Given the description of an element on the screen output the (x, y) to click on. 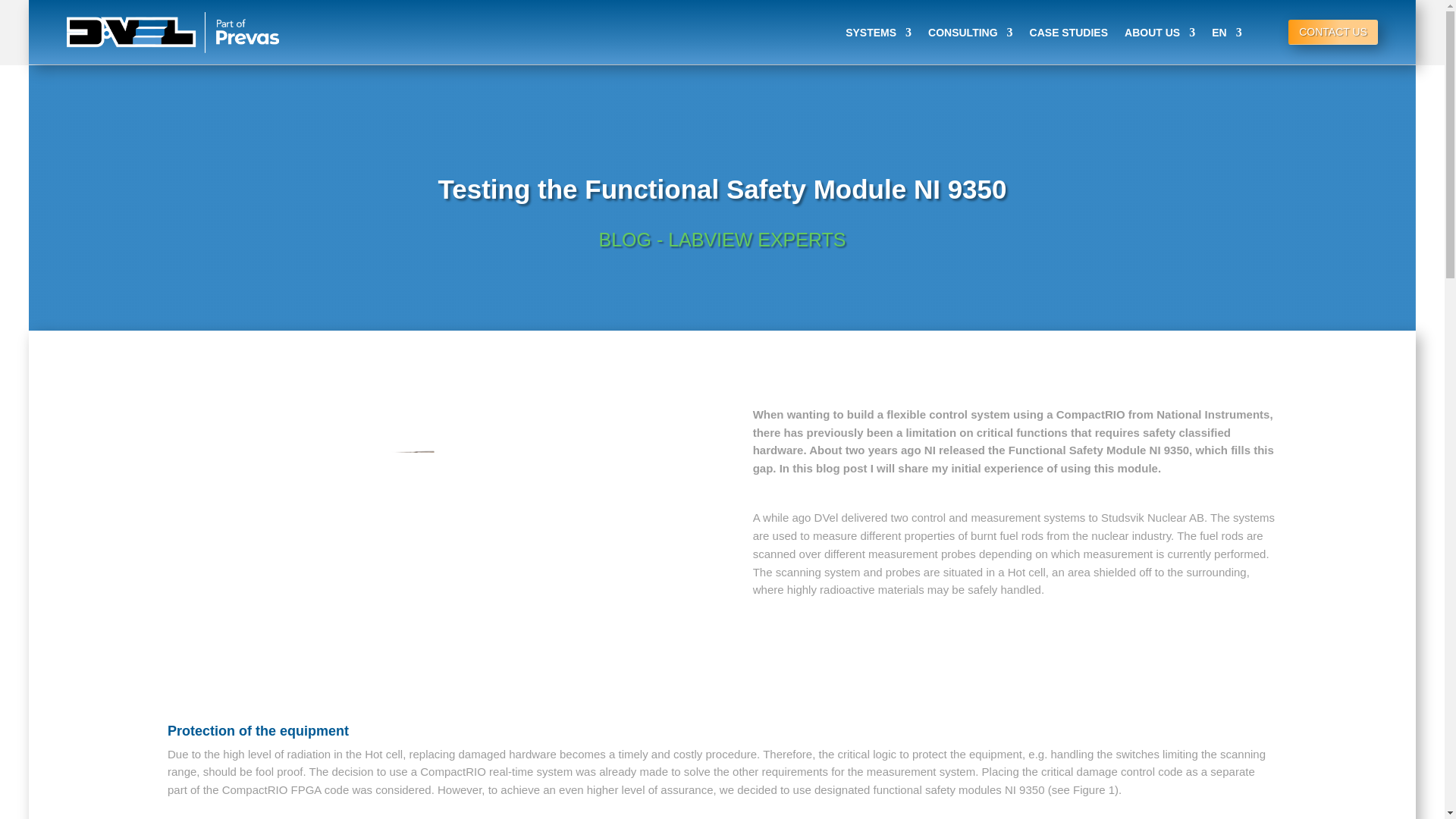
CASE STUDIES (1068, 32)
CONSULTING (970, 32)
EN (1226, 32)
ABOUT US (1159, 32)
SYSTEMS (878, 32)
CONTACT US (1332, 31)
